Given the description of an element on the screen output the (x, y) to click on. 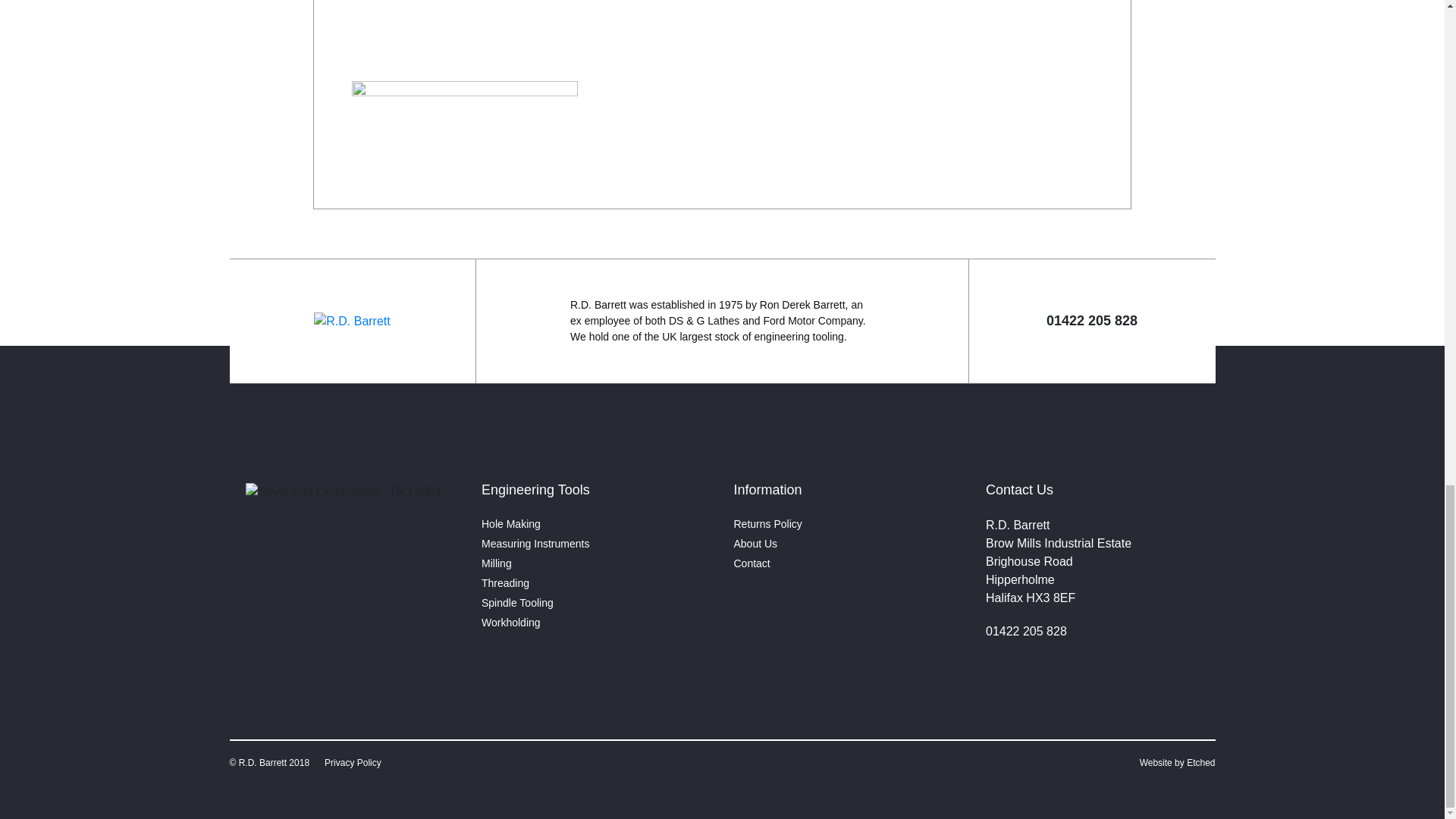
Privacy Policy (352, 762)
About Us (755, 543)
Spindle Tooling (517, 603)
01422 205 828 (1026, 631)
Measuring Instruments (535, 543)
Contact (751, 563)
Hole Making (510, 523)
Threading (505, 582)
Milling (496, 563)
Website by Etched (1177, 762)
Workholding (510, 622)
Returns Policy (767, 523)
